Given the description of an element on the screen output the (x, y) to click on. 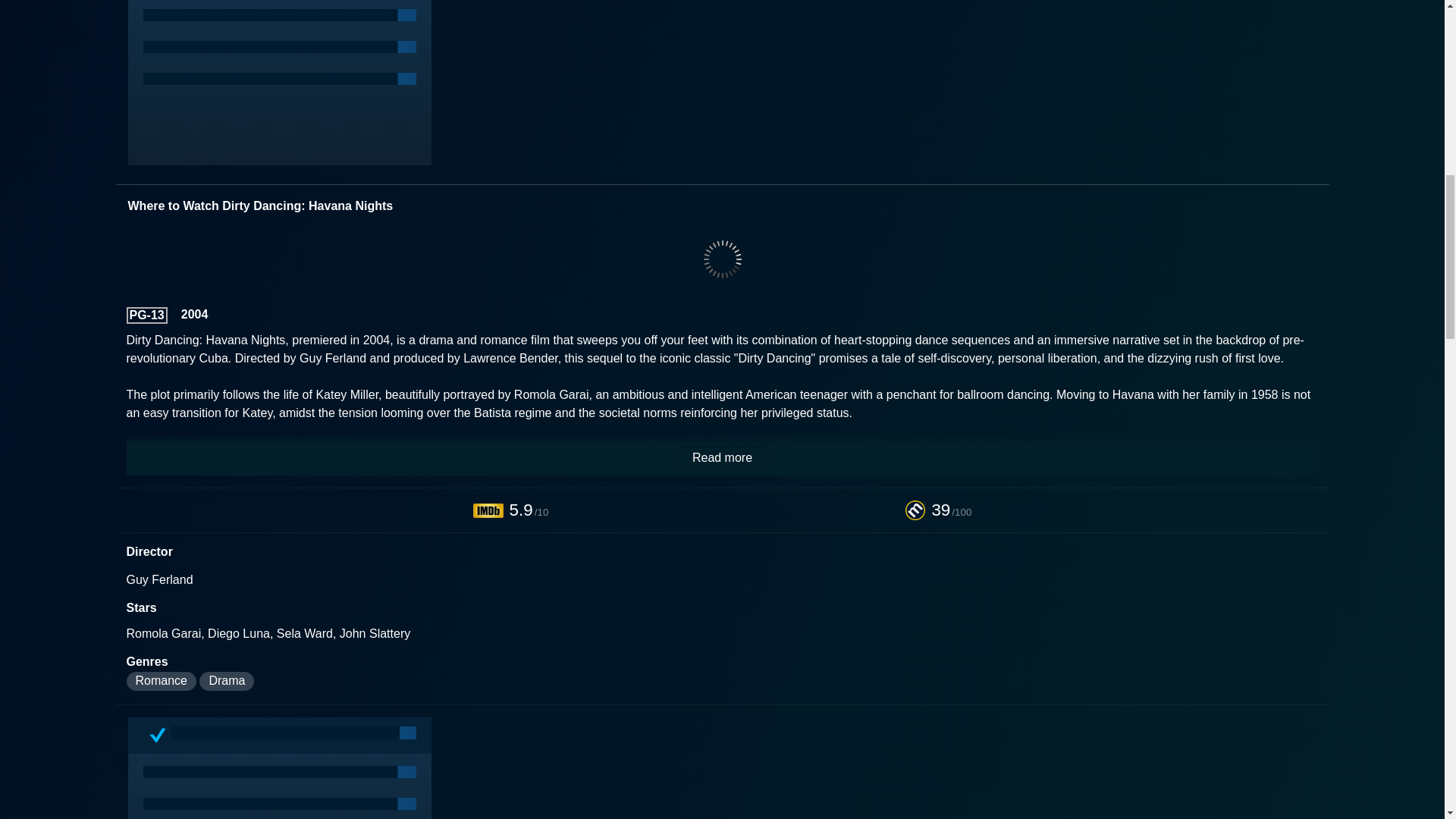
Drama (226, 681)
Read more (722, 457)
Romance (160, 681)
